Given the description of an element on the screen output the (x, y) to click on. 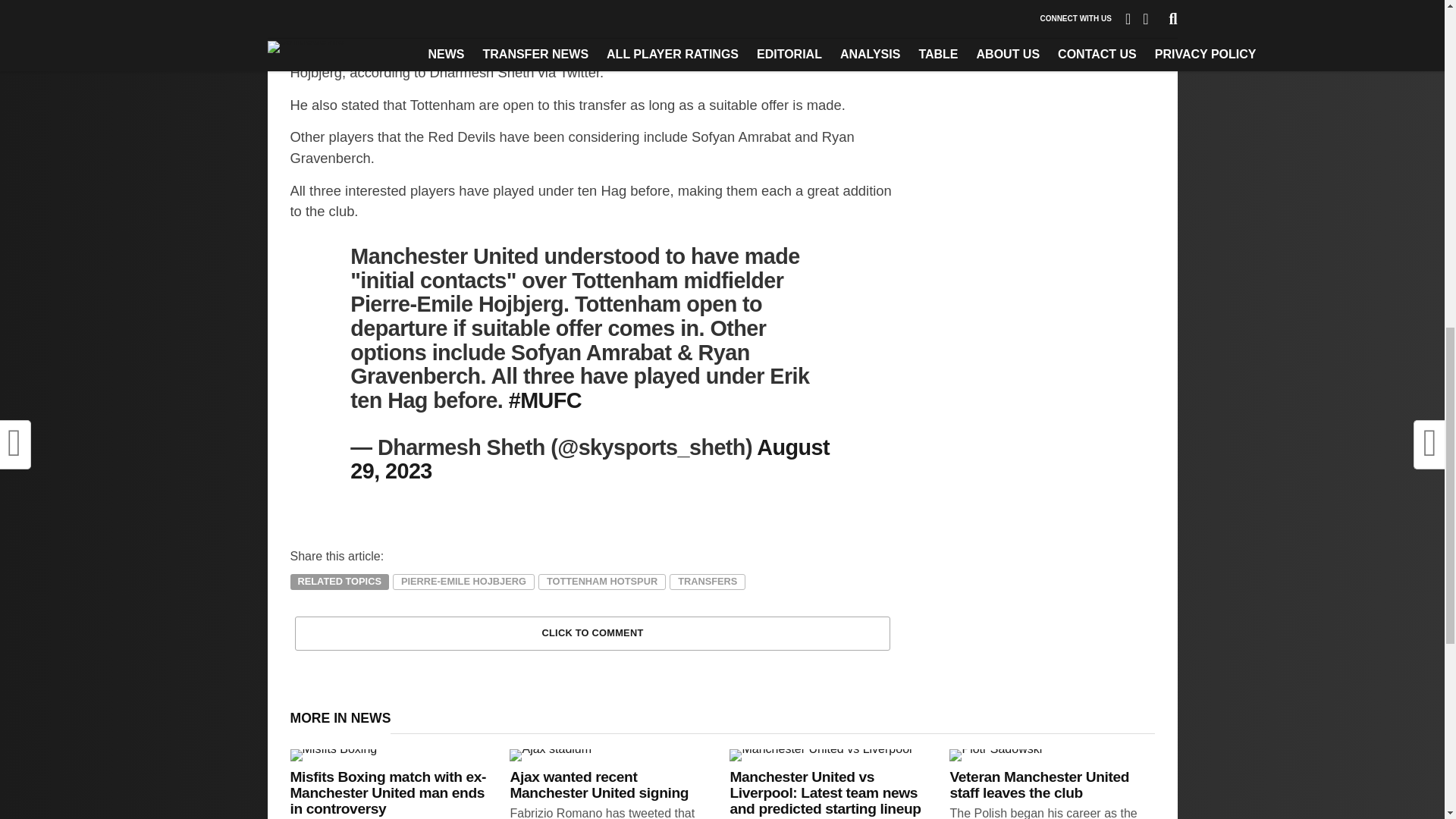
August 29, 2023 (589, 459)
PIERRE-EMILE HOJBJERG (463, 582)
TOTTENHAM HOTSPUR (601, 582)
